Given the description of an element on the screen output the (x, y) to click on. 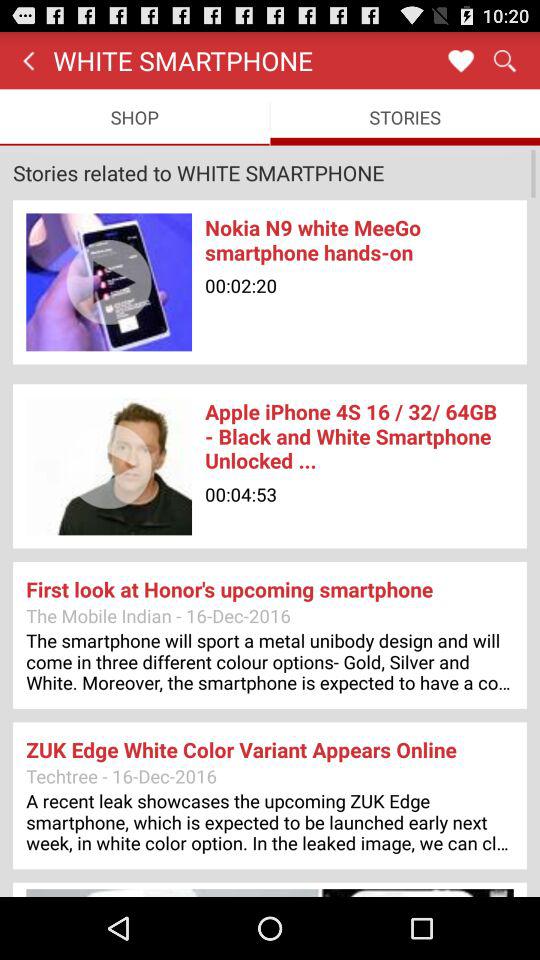
turn on icon above stories (460, 60)
